Given the description of an element on the screen output the (x, y) to click on. 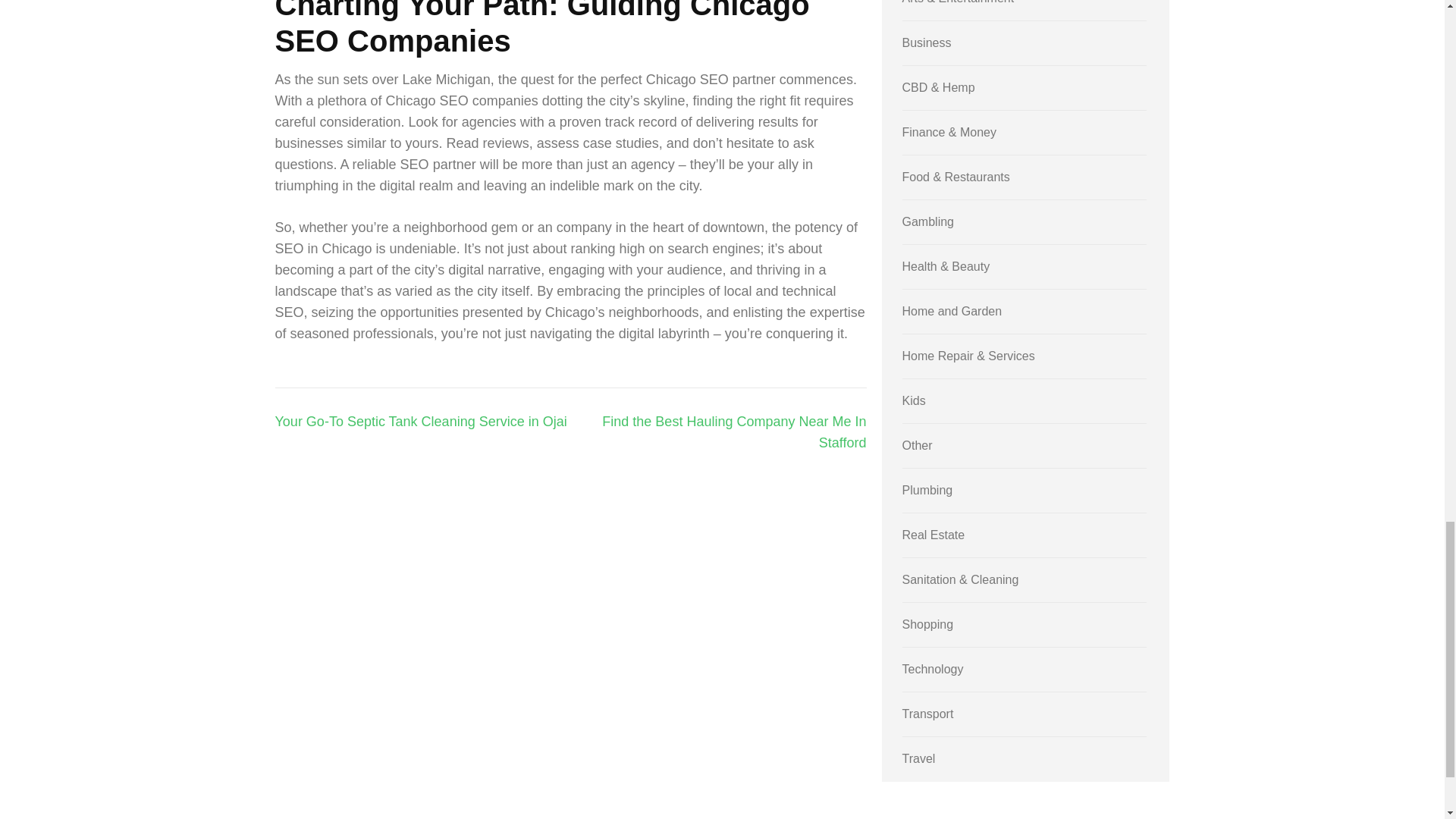
Your Go-To Septic Tank Cleaning Service in Ojai (420, 421)
Find the Best Hauling Company Near Me In Stafford (734, 432)
